Given the description of an element on the screen output the (x, y) to click on. 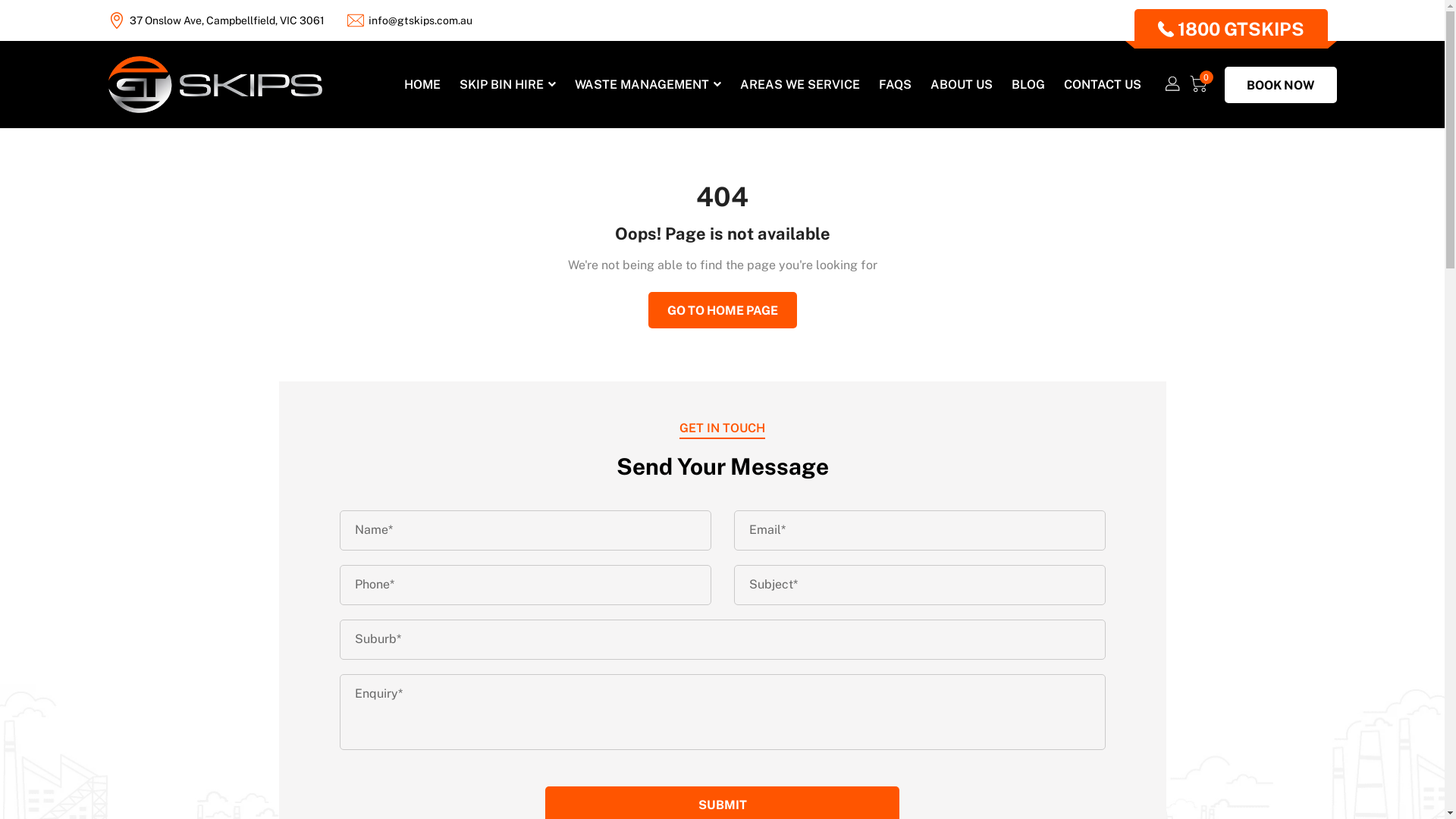
HOME Element type: text (421, 84)
info@gtskips.com.au Element type: text (420, 19)
37 Onslow Ave, Campbellfield, VIC 3061 Element type: text (225, 19)
BLOG Element type: text (1027, 84)
FAQS Element type: text (894, 84)
0 Element type: text (1199, 83)
SKIP BIN HIRE Element type: text (507, 84)
AREAS WE SERVICE Element type: text (799, 84)
BOOK NOW Element type: text (1279, 84)
GO TO HOME PAGE Element type: text (721, 309)
CONTACT US Element type: text (1101, 84)
My Account Element type: hover (1173, 83)
ABOUT US Element type: text (960, 84)
1800 GTSKIPS Element type: text (1230, 28)
WASTE MANAGEMENT Element type: text (647, 84)
